Given the description of an element on the screen output the (x, y) to click on. 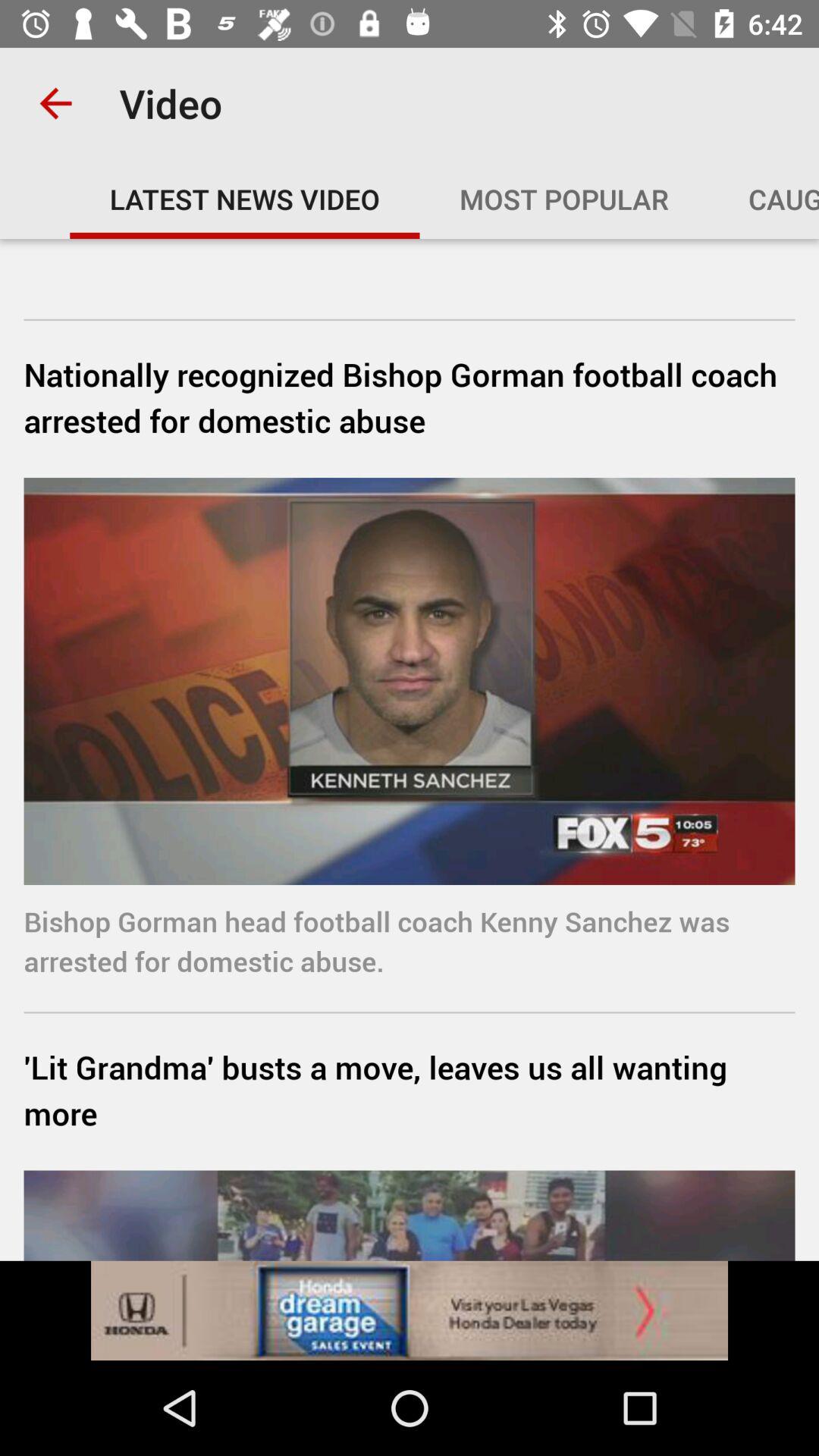
click the advertisement (409, 1310)
